Given the description of an element on the screen output the (x, y) to click on. 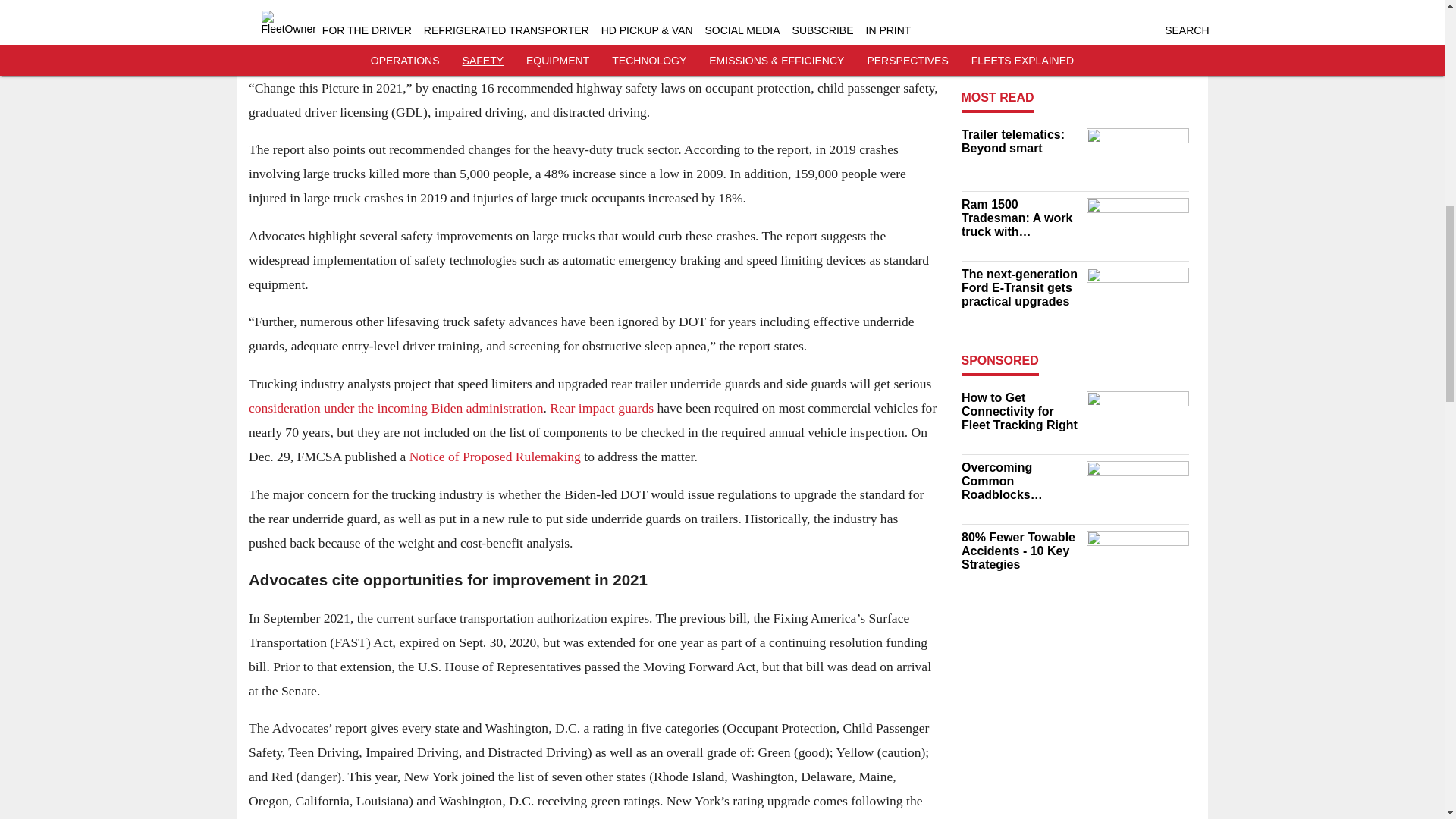
Rear impact guards (601, 407)
Notice of Proposed Rulemaking (494, 456)
consideration under the incoming Biden administration (395, 407)
